Given the description of an element on the screen output the (x, y) to click on. 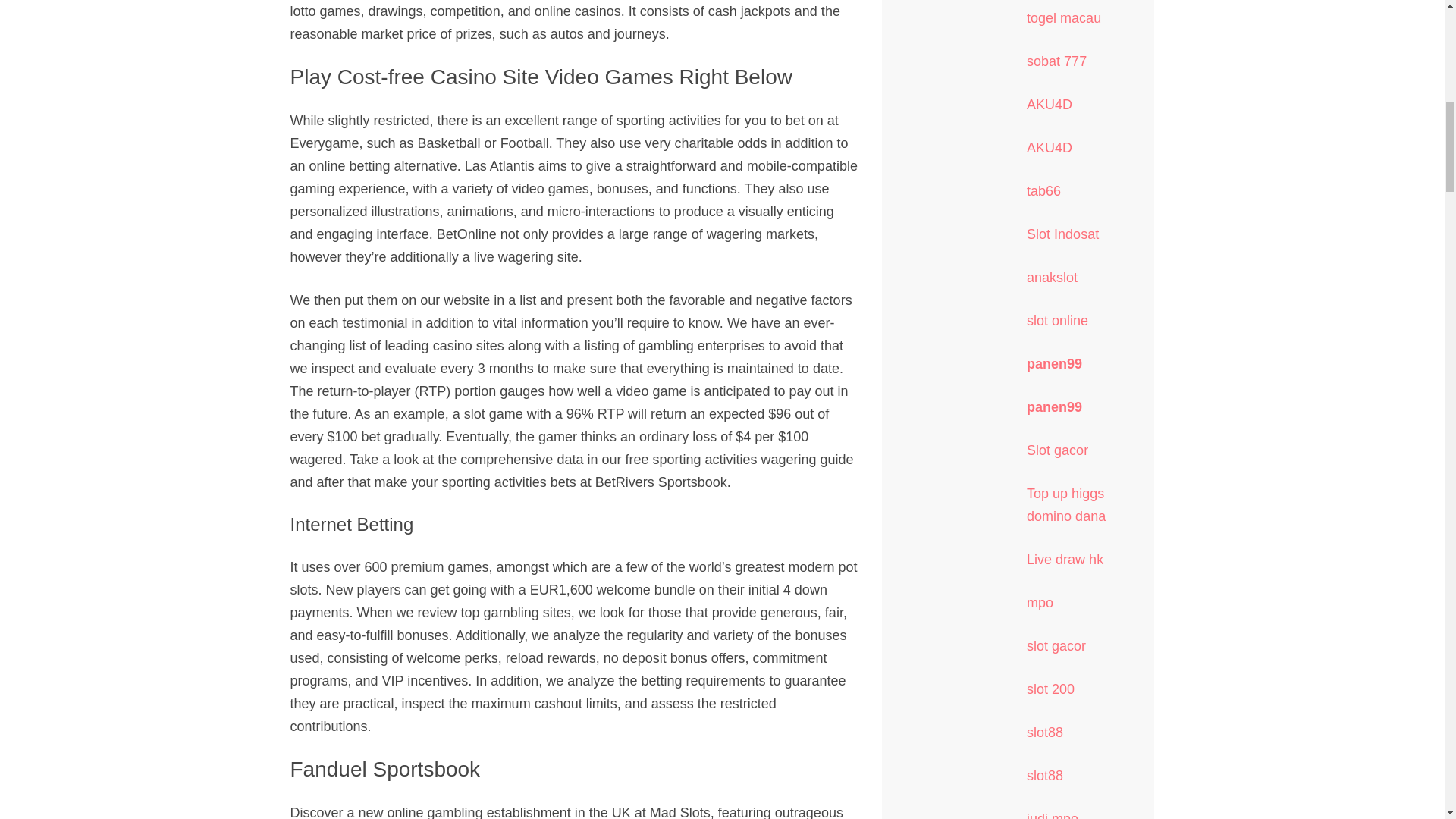
togel macau (1063, 17)
Top up higgs domino dana (1065, 505)
Slot Indosat (1062, 233)
mpo (1039, 602)
Slot gacor (1056, 450)
slot online (1056, 320)
AKU4D (1048, 147)
panen99 (1053, 406)
Live draw hk (1064, 559)
sobat 777 (1056, 61)
panen99 (1053, 363)
AKU4D (1048, 104)
anakslot (1051, 277)
tab66 (1043, 191)
